Given the description of an element on the screen output the (x, y) to click on. 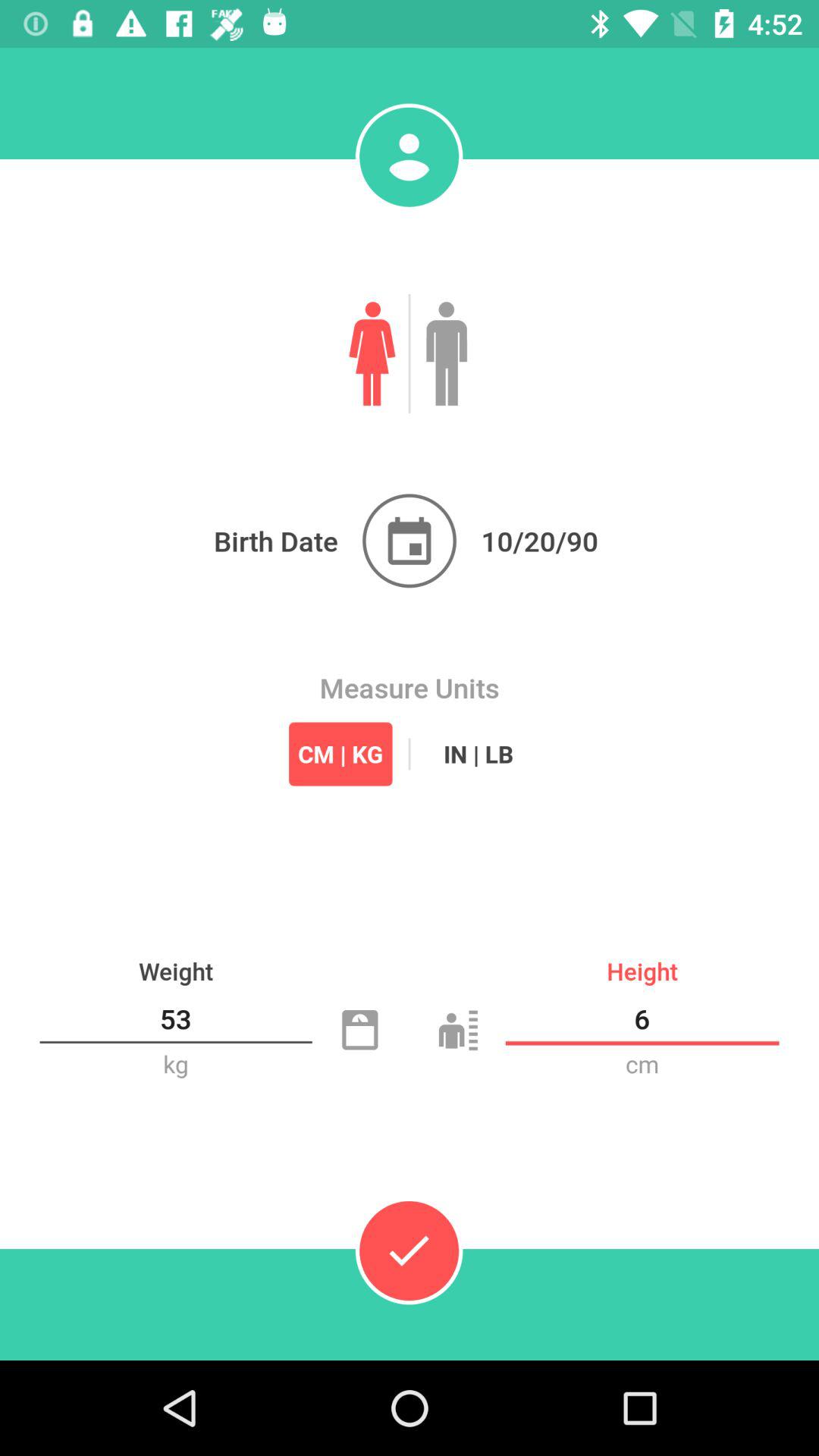
done the option (408, 1250)
